Given the description of an element on the screen output the (x, y) to click on. 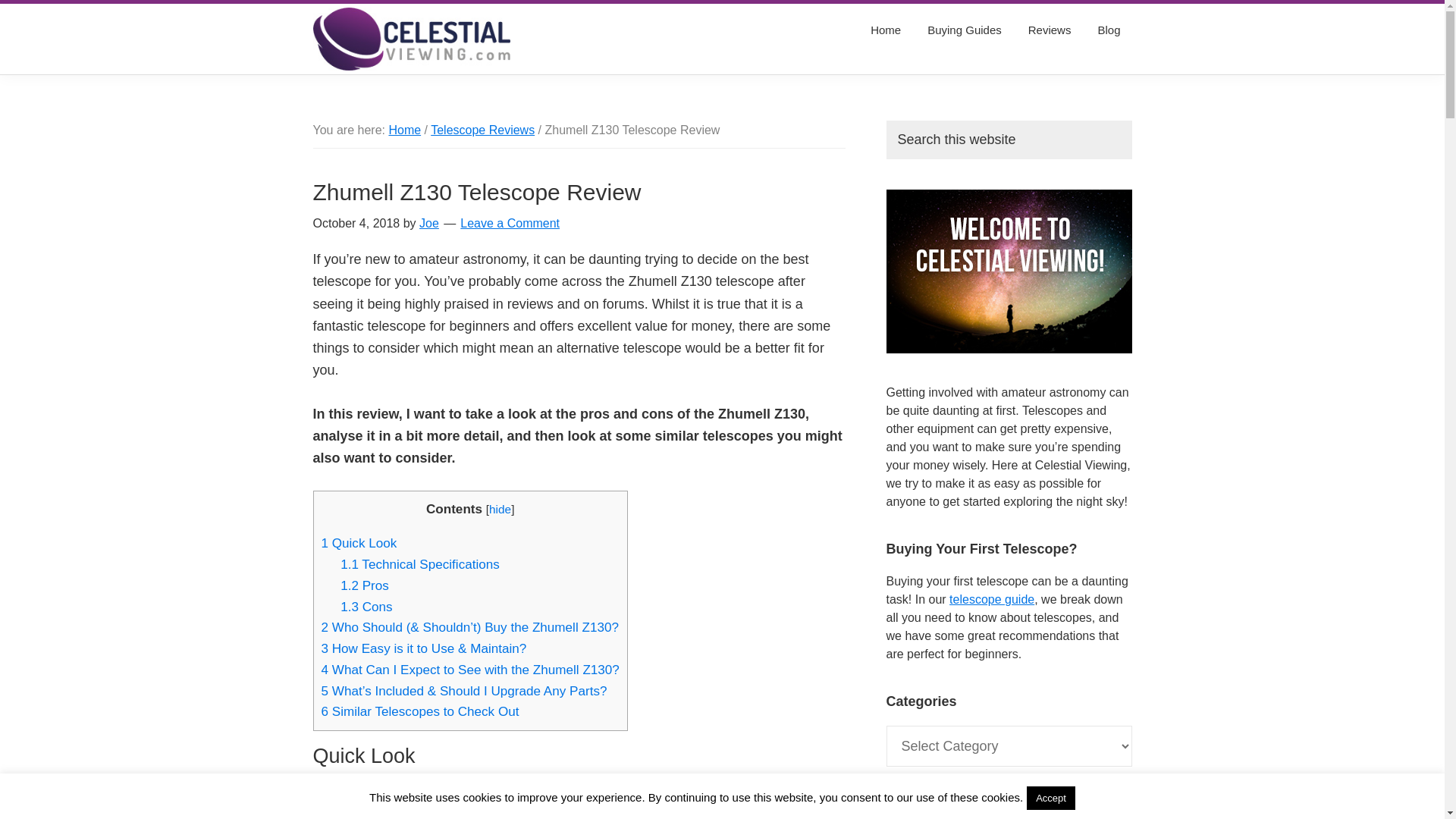
Buying Guides (964, 30)
1.1 Technical Specifications (419, 564)
4 What Can I Expect to See with the Zhumell Z130? (470, 669)
Telescope Reviews (482, 129)
6 Similar Telescopes to Check Out (420, 711)
Joe (429, 223)
1.3 Cons (365, 606)
1.2 Pros (364, 585)
